Given the description of an element on the screen output the (x, y) to click on. 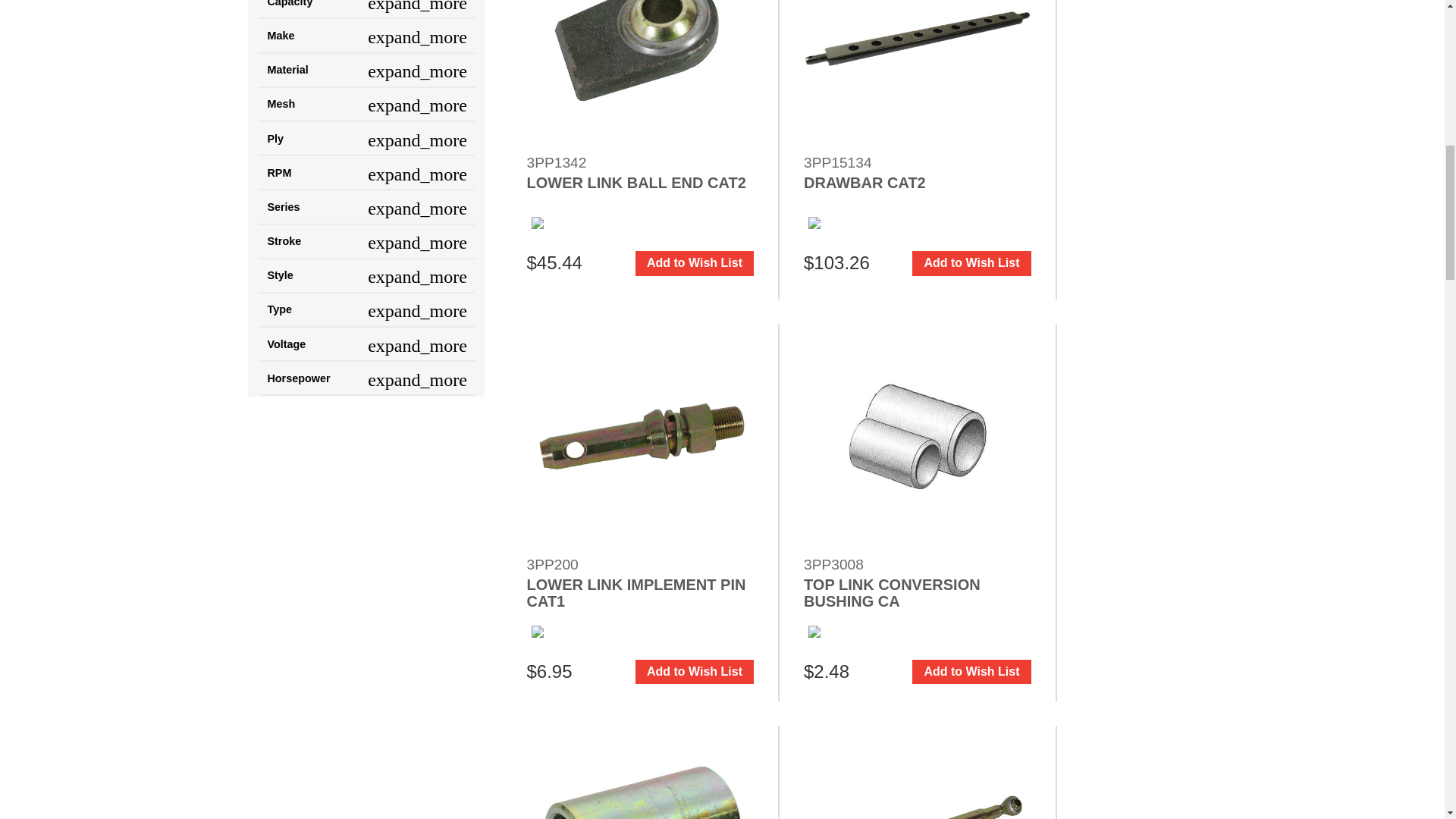
LOWER LINK IMPLEMENT PIN CAT1 (639, 437)
LOWER LINK CONVERSION BUSHING (639, 772)
LOWER LINK BALL END CAT2 (639, 74)
TOP LINK CONVERSION BUSHING CA (916, 437)
DRAWBAR CAT2 (916, 74)
